Given the description of an element on the screen output the (x, y) to click on. 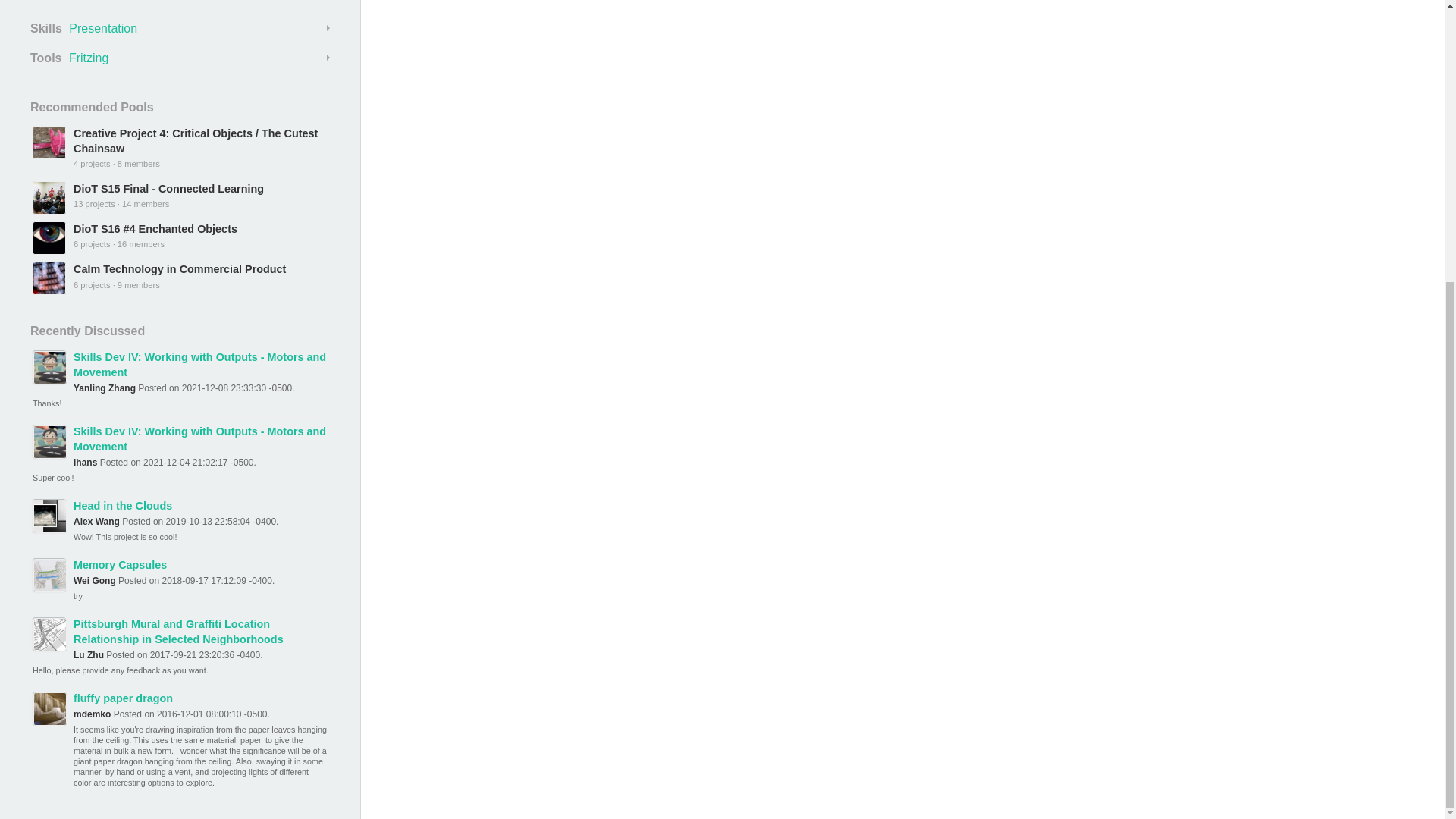
Skills Presentation (180, 28)
